Given the description of an element on the screen output the (x, y) to click on. 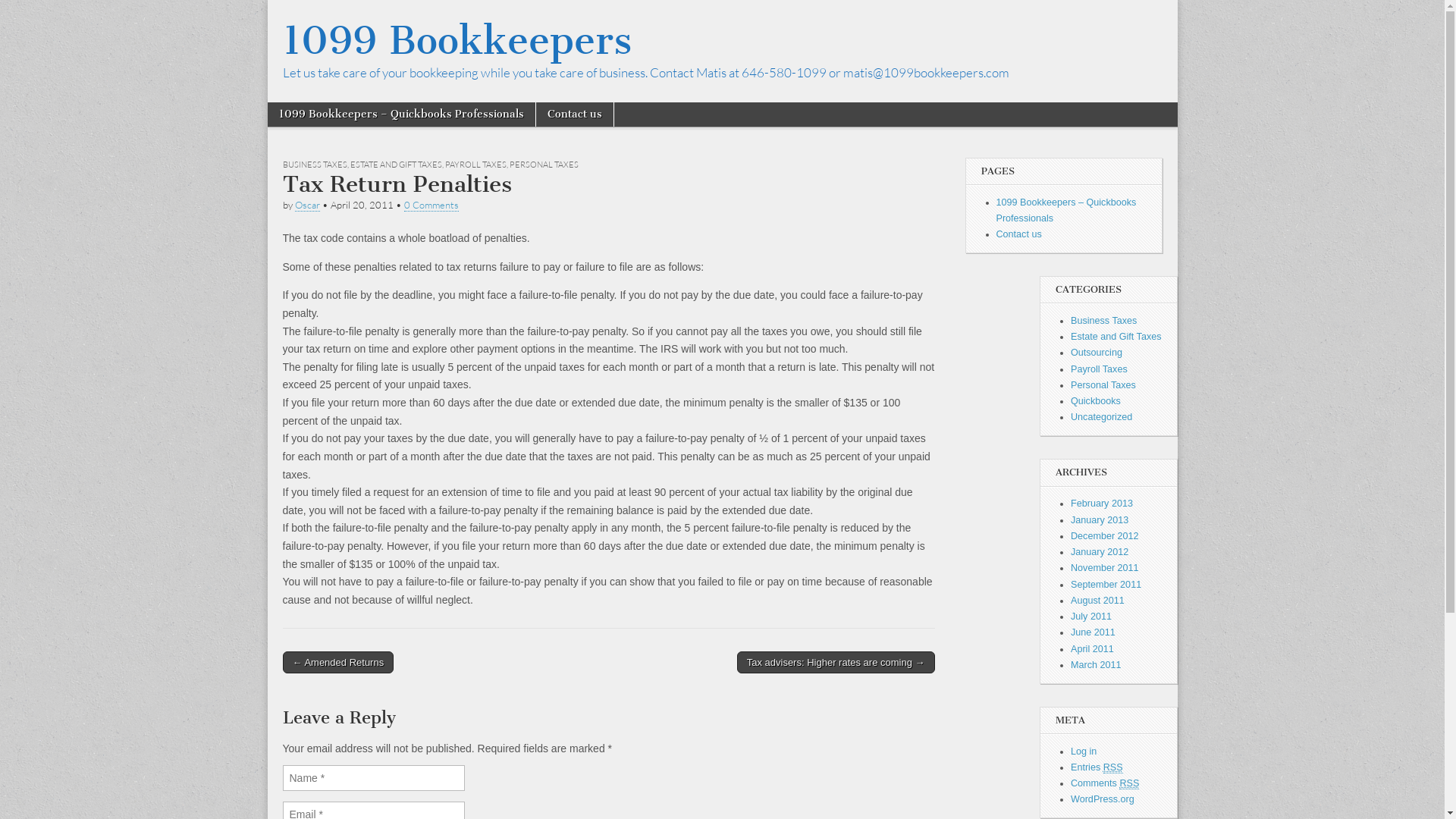
Contact us Element type: text (1018, 234)
August 2011 Element type: text (1097, 600)
Skip to content Element type: text (305, 110)
Outsourcing Element type: text (1096, 352)
June 2011 Element type: text (1092, 632)
November 2011 Element type: text (1104, 567)
February 2013 Element type: text (1101, 503)
PERSONAL TAXES Element type: text (543, 164)
December 2012 Element type: text (1104, 535)
Log in Element type: text (1083, 751)
Business Taxes Element type: text (1103, 320)
Entries RSS Element type: text (1096, 767)
Uncategorized Element type: text (1101, 416)
April 2011 Element type: text (1091, 648)
Personal Taxes Element type: text (1102, 384)
March 2011 Element type: text (1095, 664)
PAYROLL TAXES Element type: text (474, 164)
WordPress.org Element type: text (1102, 798)
Oscar Element type: text (306, 204)
Quickbooks Element type: text (1095, 400)
Contact us Element type: text (573, 114)
Estate and Gift Taxes Element type: text (1115, 336)
BUSINESS TAXES Element type: text (314, 164)
Payroll Taxes Element type: text (1098, 369)
0 Comments Element type: text (430, 204)
January 2012 Element type: text (1099, 551)
Comments RSS Element type: text (1104, 783)
1099 Bookkeepers Element type: text (456, 40)
July 2011 Element type: text (1090, 616)
ESTATE AND GIFT TAXES Element type: text (396, 164)
January 2013 Element type: text (1099, 519)
September 2011 Element type: text (1105, 584)
